Given the description of an element on the screen output the (x, y) to click on. 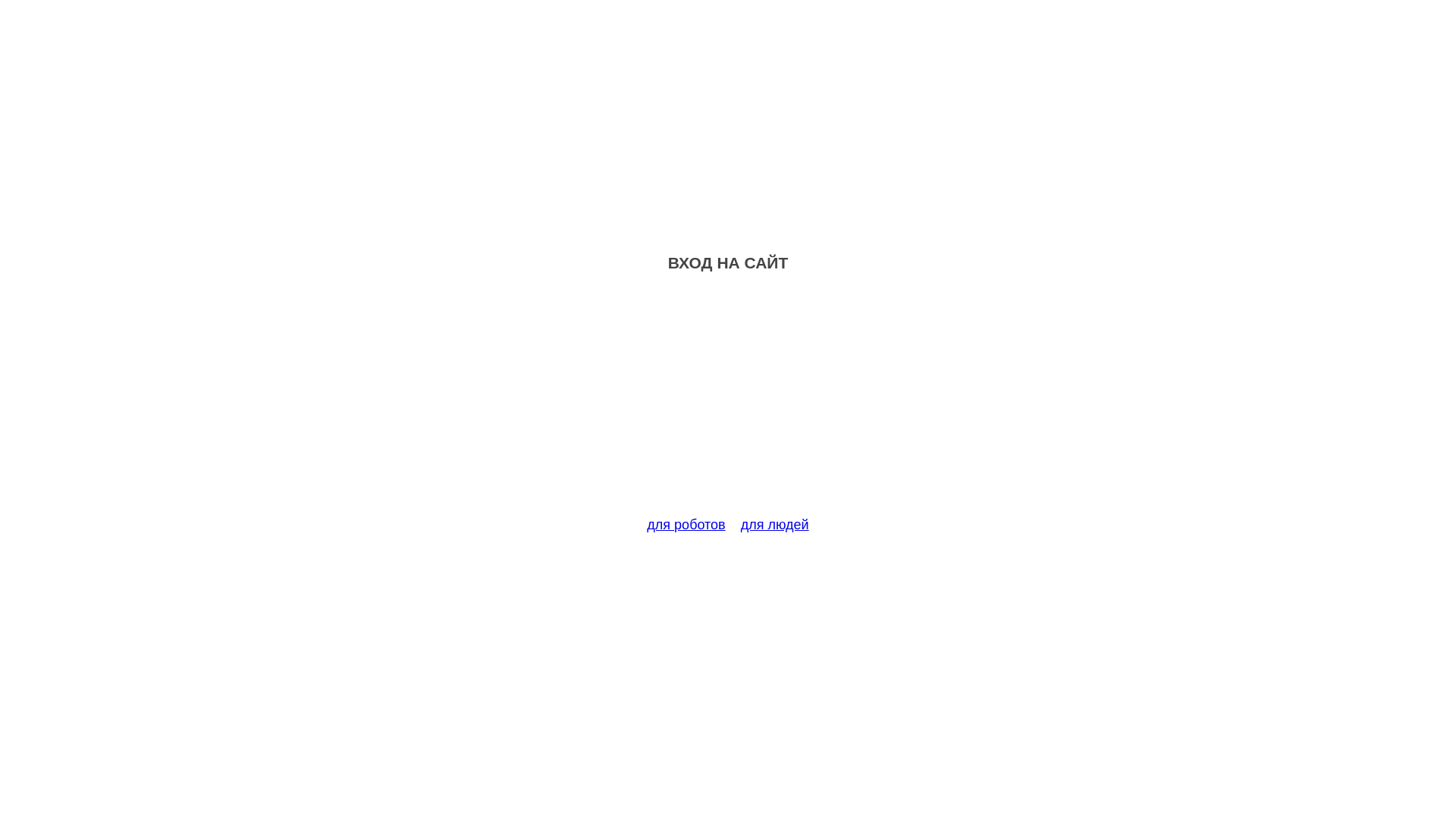
Advertisement Element type: hover (727, 403)
